Given the description of an element on the screen output the (x, y) to click on. 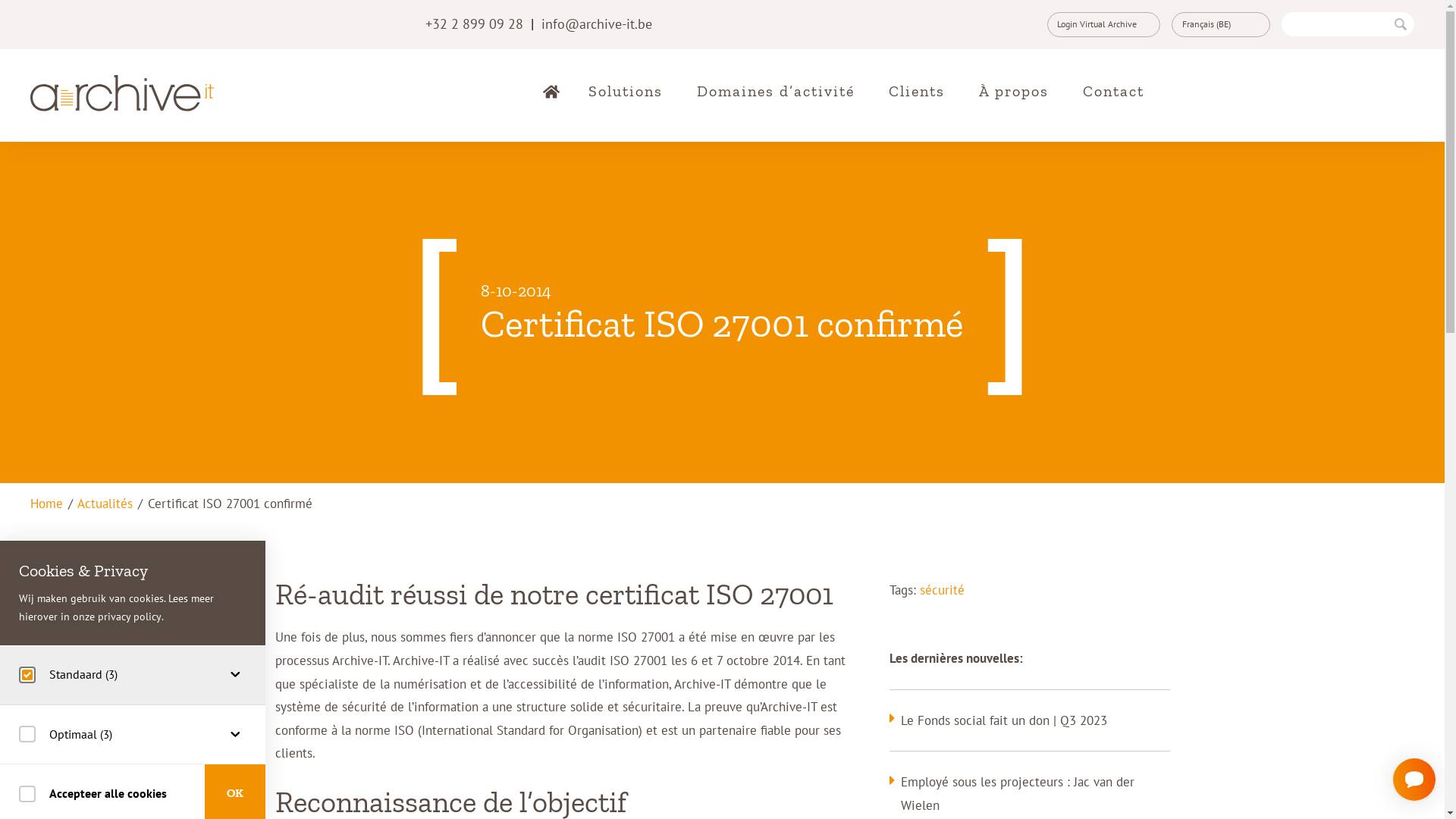
Home Element type: text (46, 503)
Accepteer alle cookies Element type: text (92, 793)
Contact Element type: text (1113, 90)
Clients Element type: text (916, 90)
Login Virtual Archive Element type: text (1103, 24)
Smartsupp widget button Element type: hover (1414, 779)
+32 2 899 09 28 Element type: text (474, 24)
Home Element type: hover (548, 91)
Solutions Element type: text (625, 90)
Archive-IT Element type: hover (140, 92)
privacy policy Element type: text (129, 617)
Le Fonds social fait un don | Q3 2023 Element type: text (1003, 720)
info@archive-it.be Element type: text (596, 24)
